Given the description of an element on the screen output the (x, y) to click on. 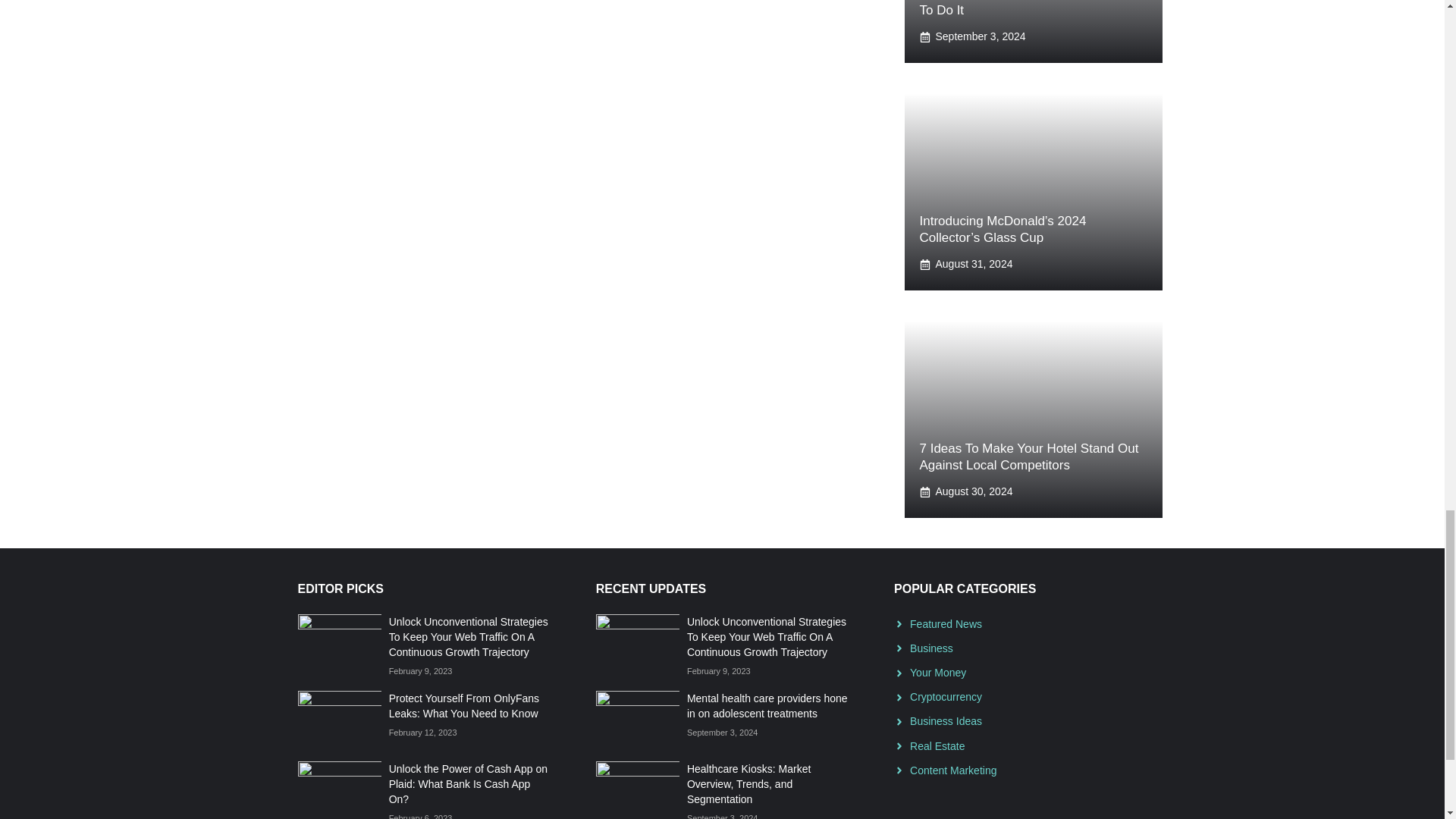
Featured News (945, 623)
Protect Yourself From OnlyFans Leaks: What You Need to Know (463, 705)
Business (931, 648)
Healthcare Kiosks: Market Overview, Trends, and Segmentation (748, 783)
